Given the description of an element on the screen output the (x, y) to click on. 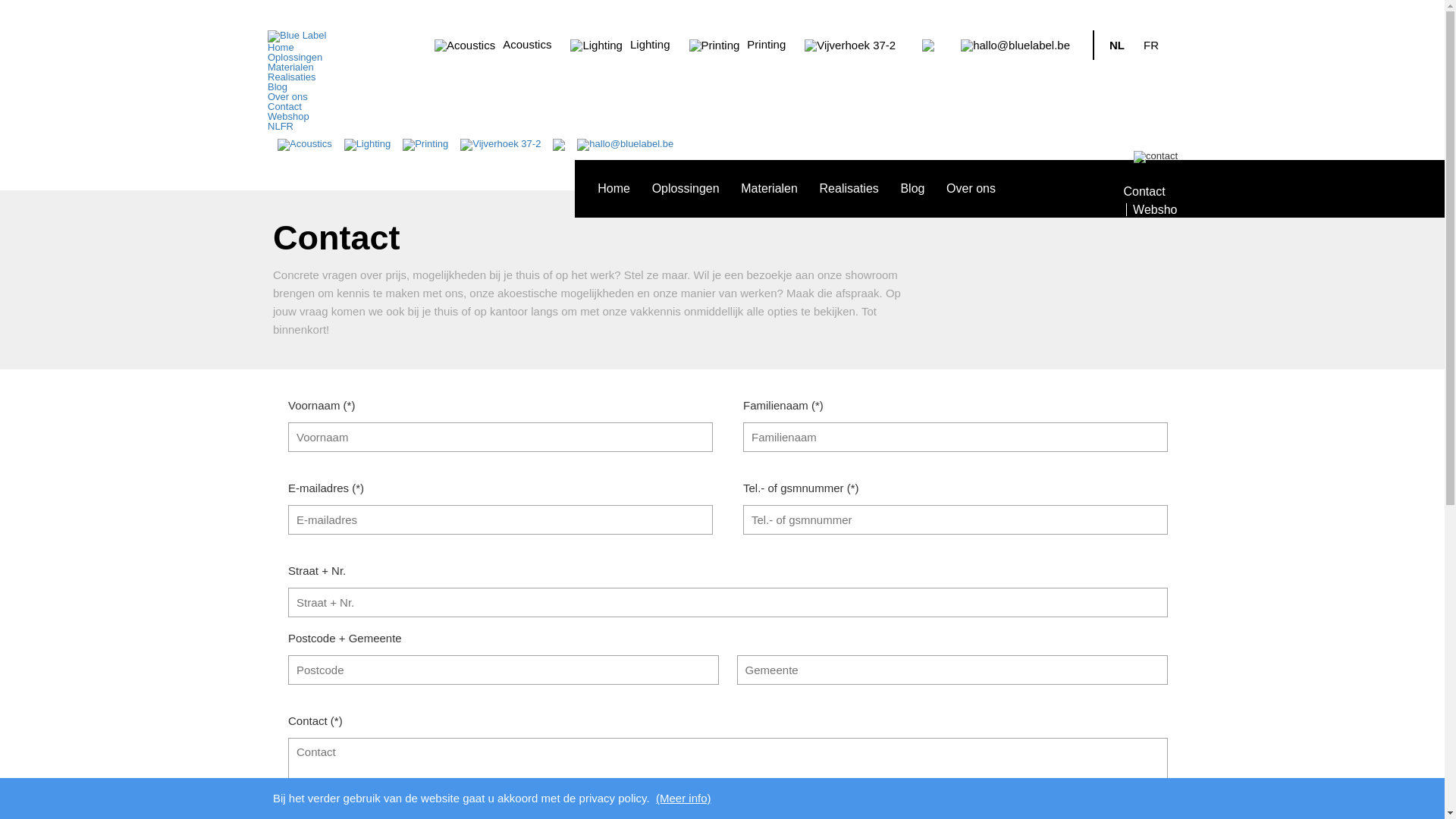
Oplossingen Element type: text (685, 188)
Home Element type: text (280, 47)
Over ons Element type: text (970, 188)
Lighting Element type: text (619, 44)
Realisaties Element type: text (291, 76)
Acoustics Element type: text (492, 44)
NL Element type: text (273, 125)
Contact Element type: text (1143, 191)
Over ons Element type: text (287, 96)
Printing Element type: text (736, 44)
FR Element type: text (1150, 44)
Contact Element type: text (284, 106)
Home Element type: text (613, 188)
Cookies Akkoord Element type: hover (1171, 798)
Blog Element type: text (912, 188)
(Meer info) Element type: text (683, 797)
Blog Element type: text (277, 86)
Materialen Element type: text (290, 66)
Realisaties Element type: text (848, 188)
Webshop Element type: text (288, 116)
NL Element type: text (1116, 44)
Webshop Element type: text (1154, 209)
Materialen Element type: text (768, 188)
FR Element type: text (286, 125)
Oplossingen Element type: text (294, 56)
